Given the description of an element on the screen output the (x, y) to click on. 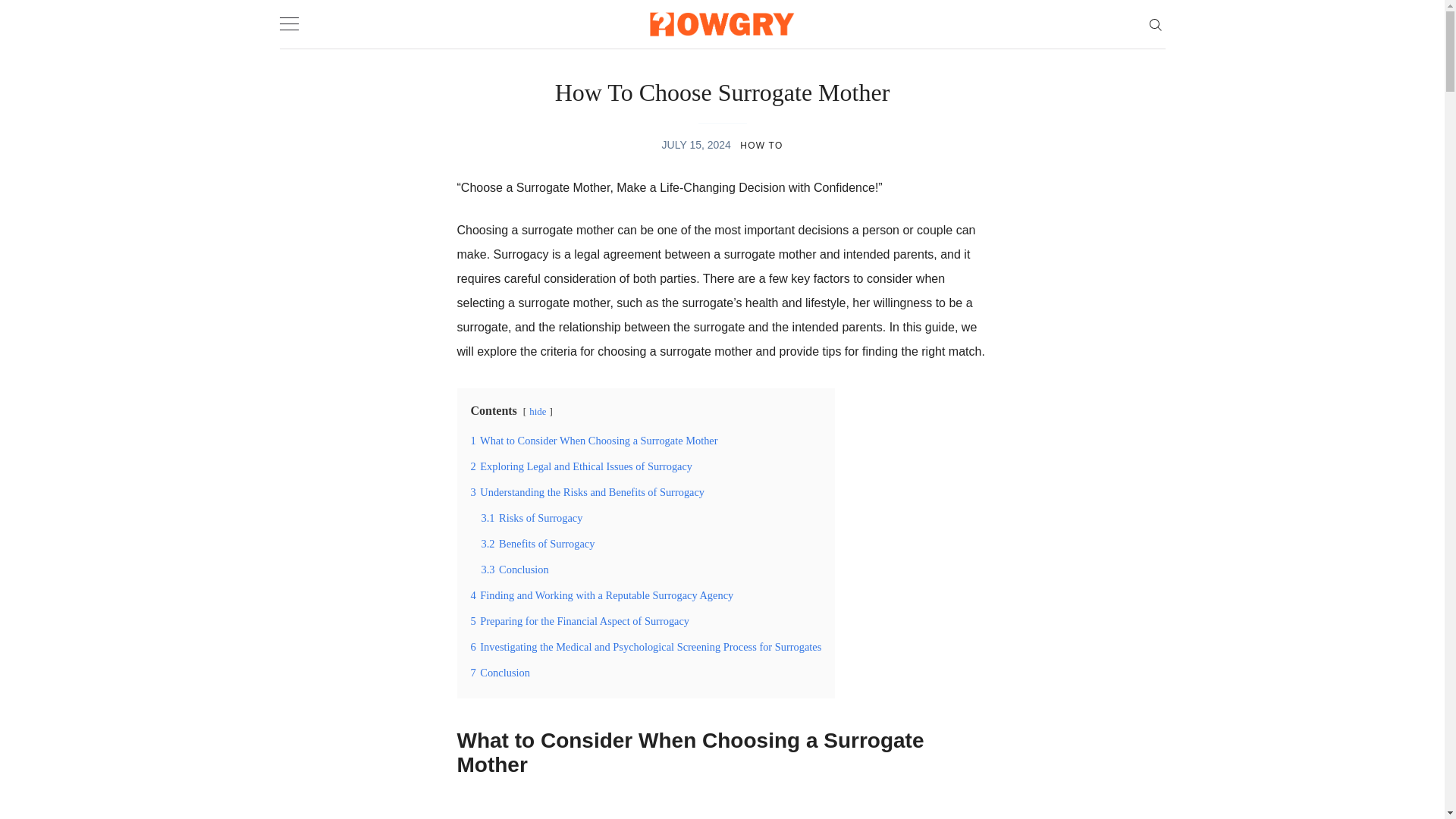
3 Understanding the Risks and Benefits of Surrogacy (587, 491)
1 What to Consider When Choosing a Surrogate Mother (593, 440)
3.3 Conclusion (514, 569)
hide (537, 411)
5 Preparing for the Financial Aspect of Surrogacy (579, 621)
HOW TO (761, 145)
4 Finding and Working with a Reputable Surrogacy Agency (601, 594)
3.2 Benefits of Surrogacy (537, 543)
7 Conclusion (499, 672)
